Given the description of an element on the screen output the (x, y) to click on. 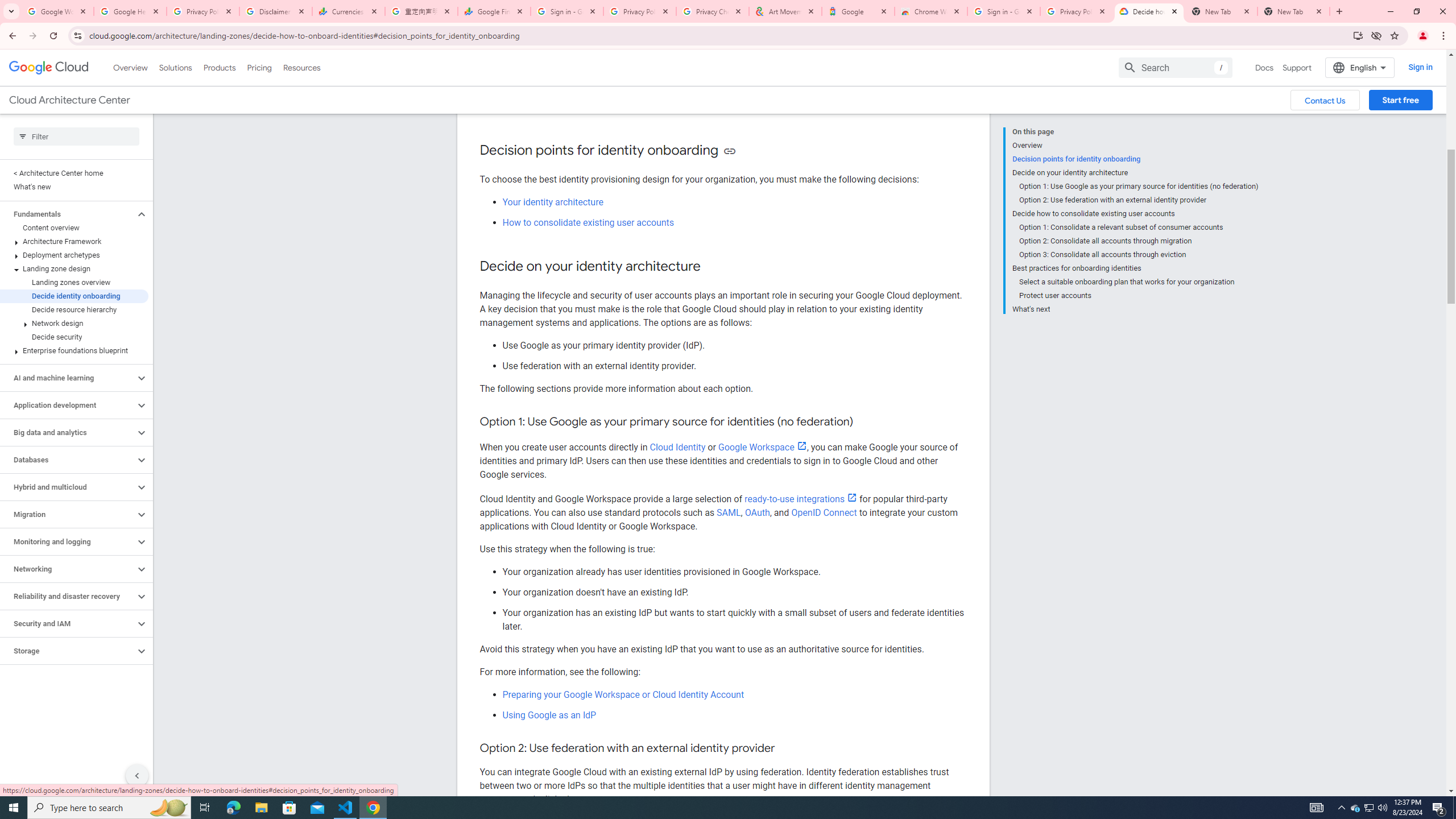
Networking (67, 568)
Architecture Framework (74, 241)
Hybrid and multicloud (67, 486)
Network design (74, 323)
< Architecture Center home (74, 173)
Preparing your Google Workspace or Cloud Identity Account (623, 694)
Cloud Architecture Center (68, 100)
